Given the description of an element on the screen output the (x, y) to click on. 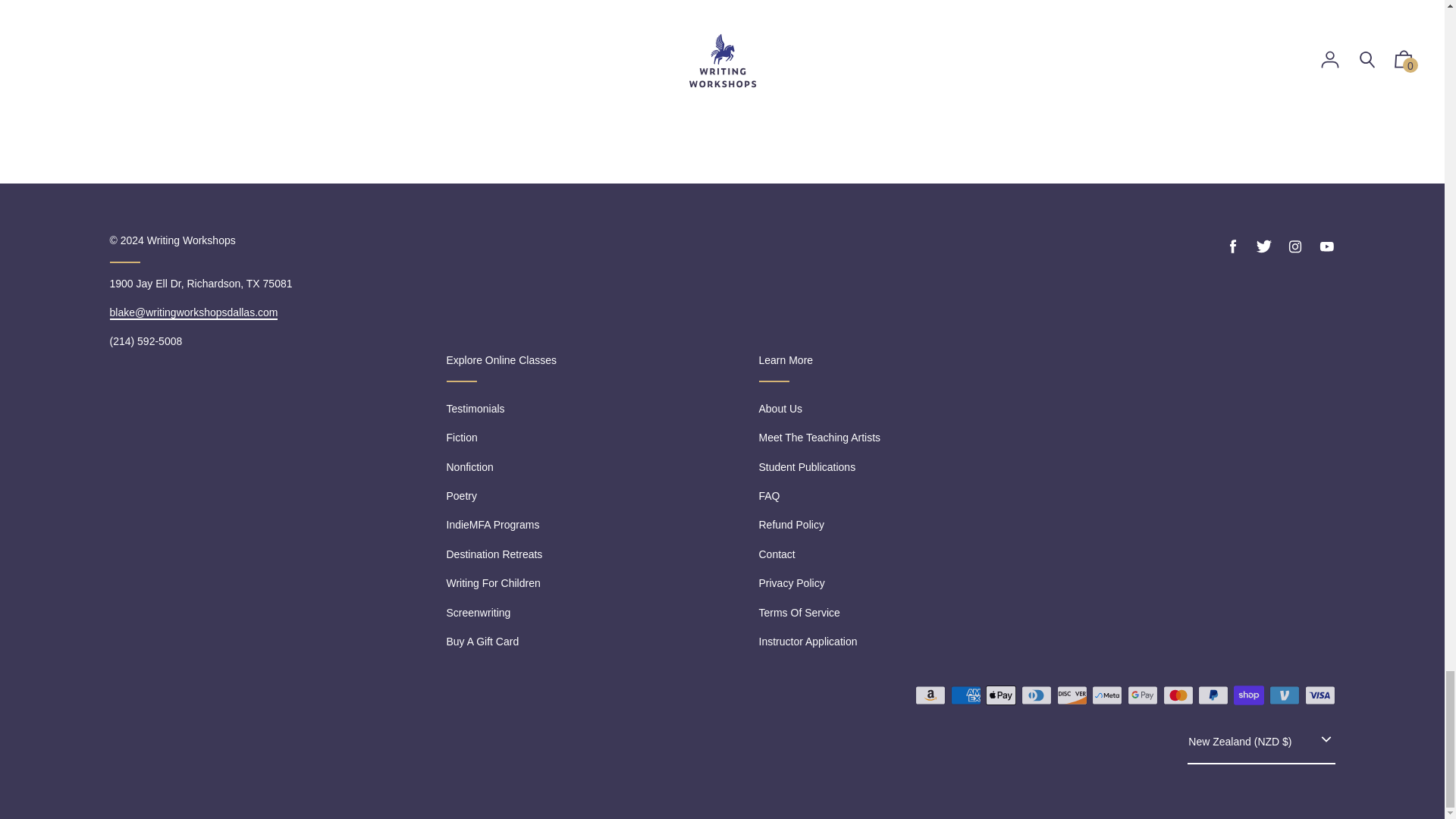
Writing Workshops on YouTube (1326, 246)
Writing Workshops on Facebook (1232, 246)
Mastercard (1178, 695)
Amazon (929, 695)
Meta Pay (1107, 695)
Venmo (1284, 695)
Diners Club (1036, 695)
Apple Pay (1000, 695)
Writing Workshops on Twitter (1263, 246)
Visa (1319, 695)
